Given the description of an element on the screen output the (x, y) to click on. 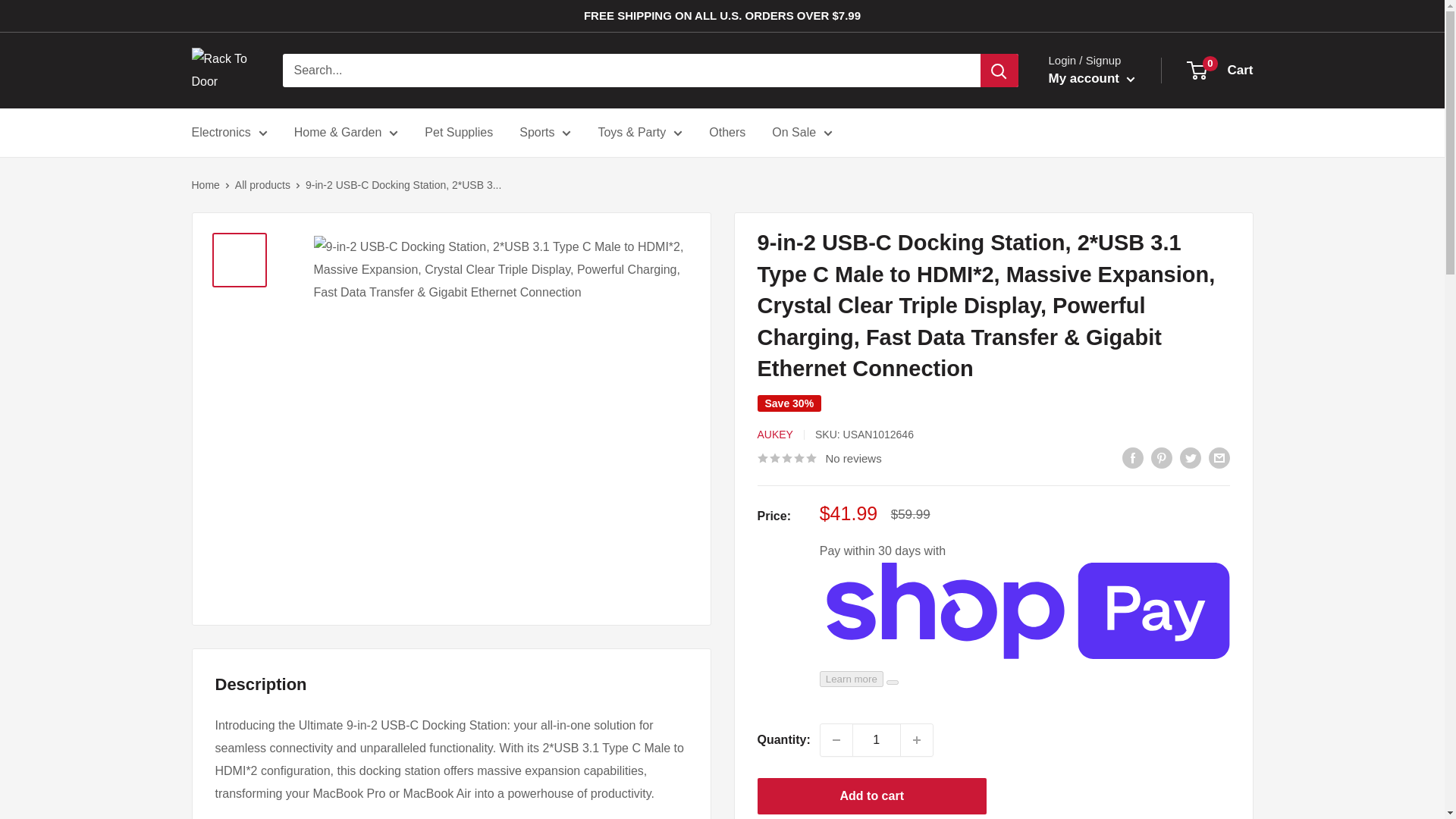
Increase quantity by 1 (917, 739)
1 (876, 739)
Decrease quantity by 1 (836, 739)
